Given the description of an element on the screen output the (x, y) to click on. 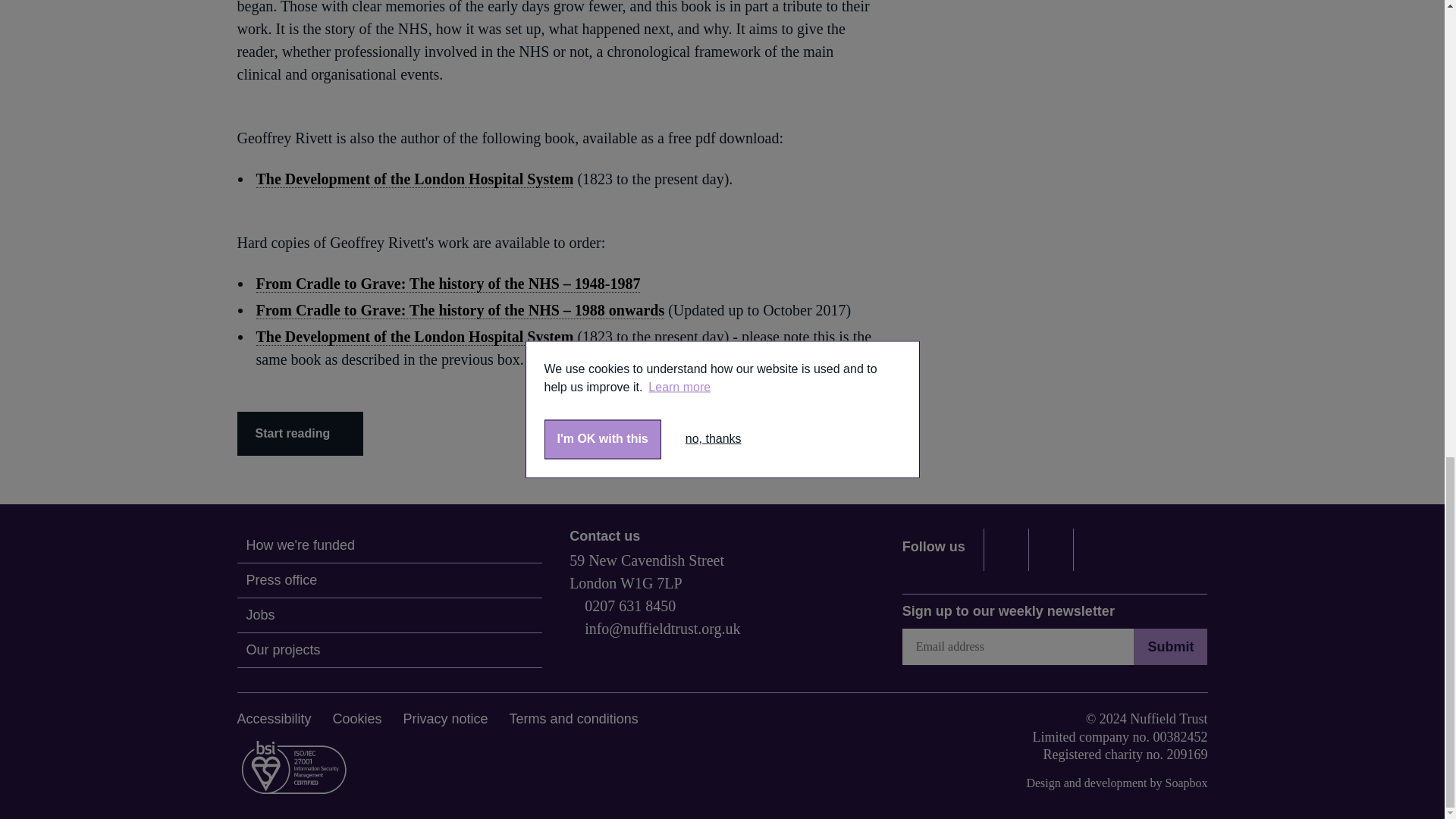
Subscribe to newsletter (1018, 646)
Submit (1170, 646)
Go to the Nuffield Trust's LinkedIn profile (1051, 549)
